Given the description of an element on the screen output the (x, y) to click on. 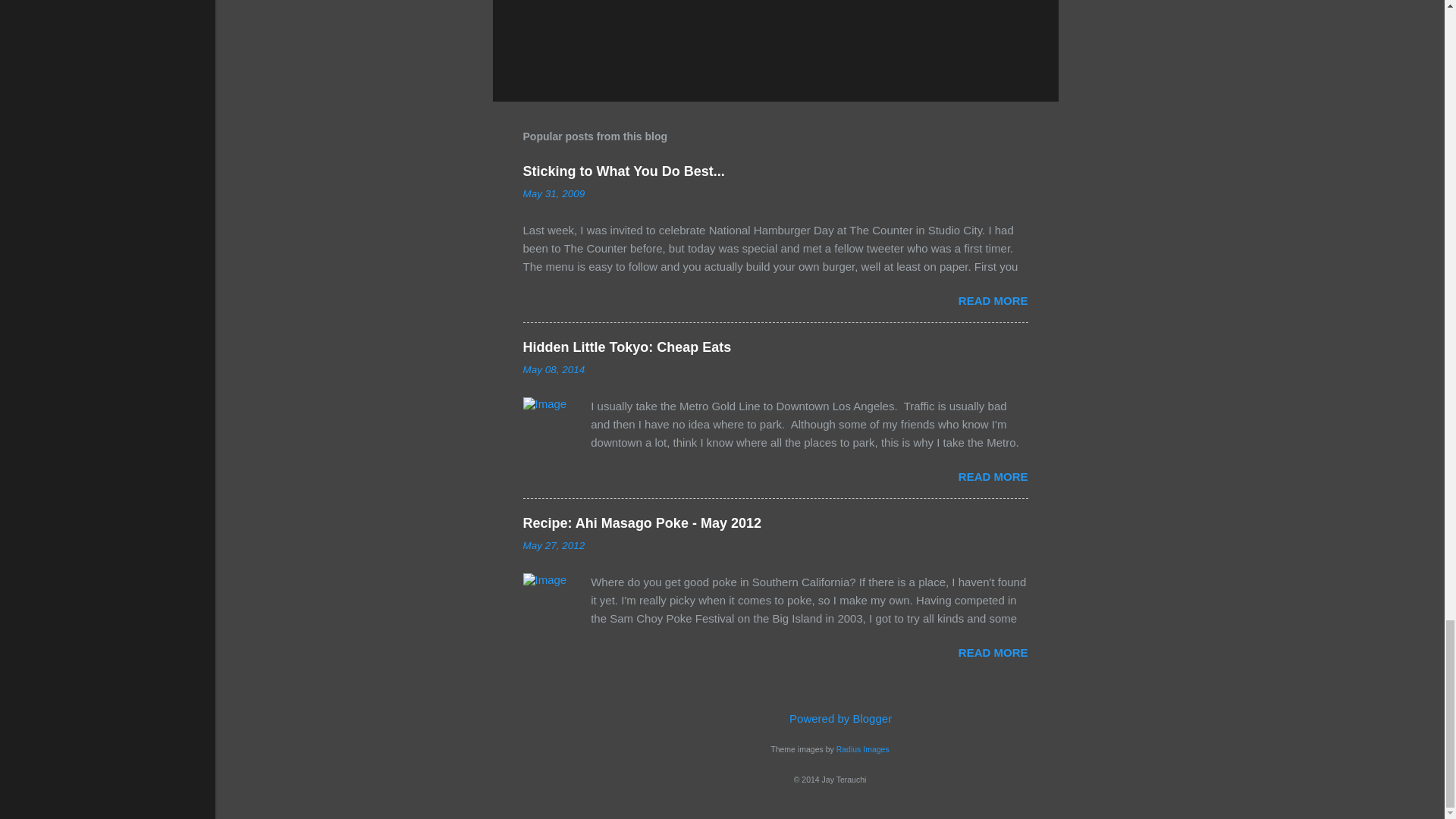
READ MORE (992, 300)
Hidden Little Tokyo: Cheap Eats (627, 346)
May 31, 2009 (553, 193)
Sticking to What You Do Best... (623, 171)
